Given the description of an element on the screen output the (x, y) to click on. 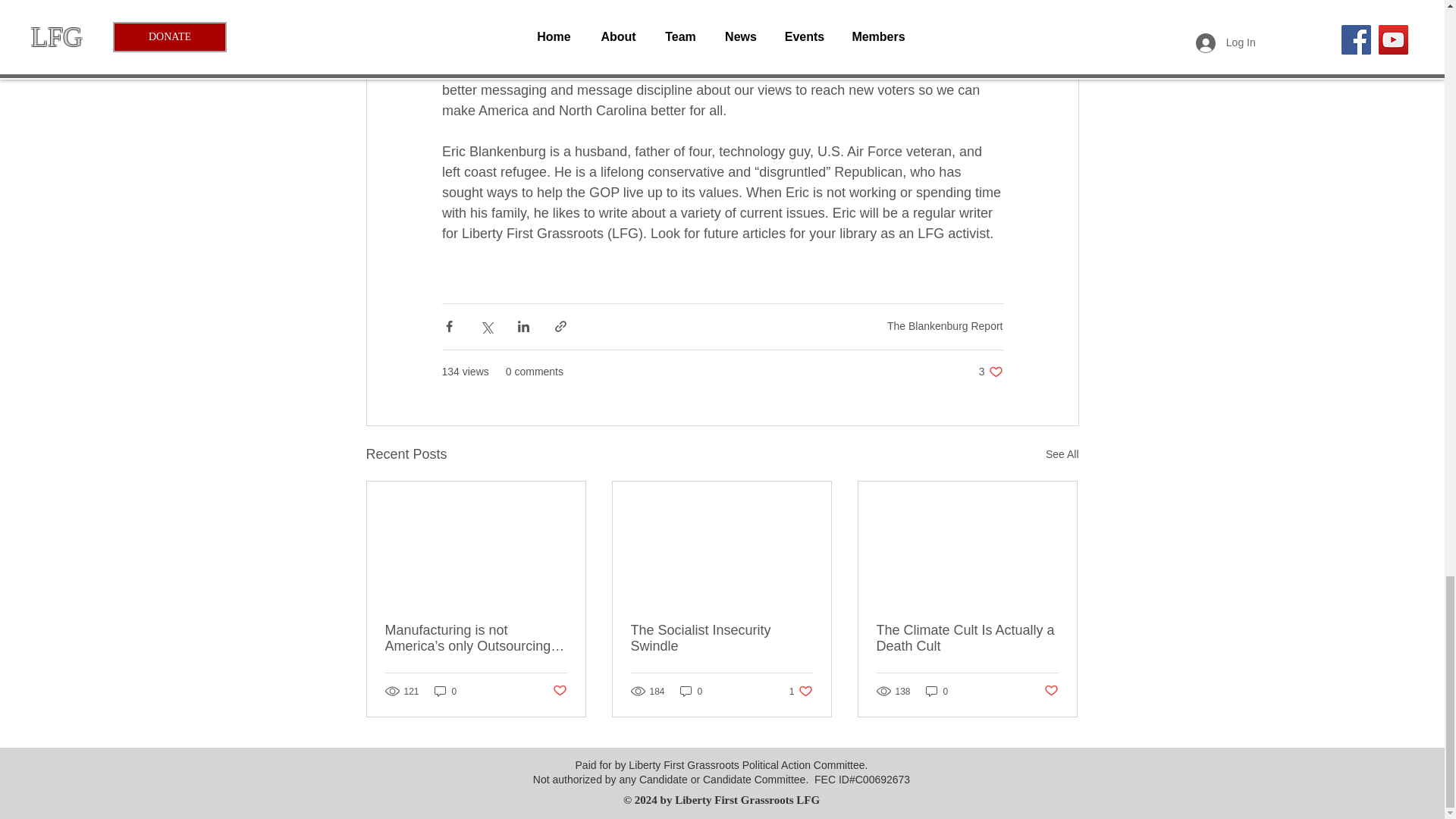
Post not marked as liked (558, 691)
0 (990, 371)
The Socialist Insecurity Swindle (691, 690)
The Blankenburg Report (721, 638)
See All (944, 326)
0 (1061, 454)
The Climate Cult Is Actually a Death Cult (445, 690)
